Given the description of an element on the screen output the (x, y) to click on. 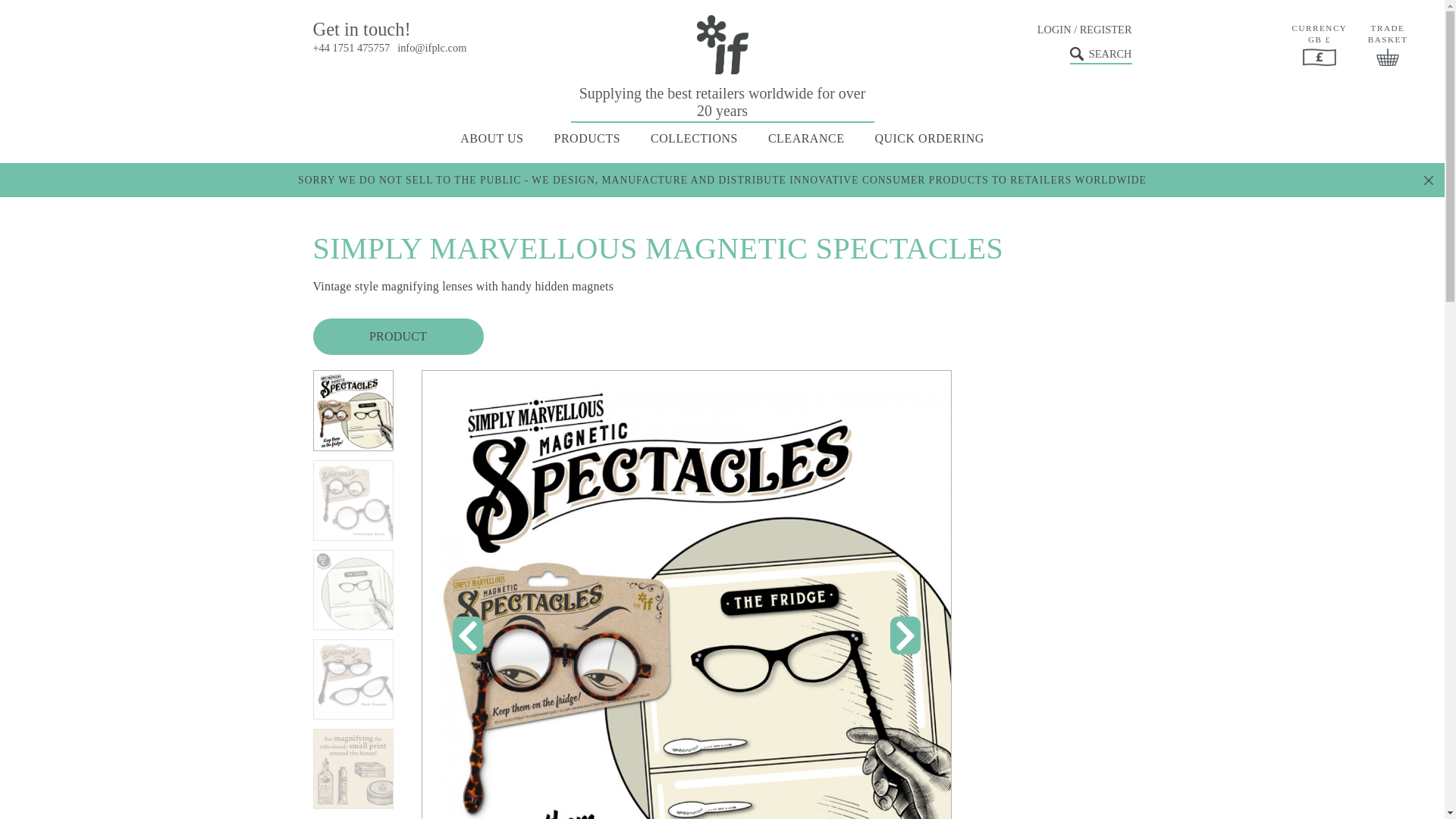
SEARCH (1101, 54)
REGISTER (1106, 29)
Supplying the best retailers worldwide for over 20 years (721, 68)
COLLECTIONS (694, 138)
ABOUT US (491, 138)
CLEARANCE (806, 138)
LOGIN (1053, 29)
QUICK ORDERING (929, 138)
PRODUCTS (587, 138)
TRADE BASKET (1388, 44)
